Given the description of an element on the screen output the (x, y) to click on. 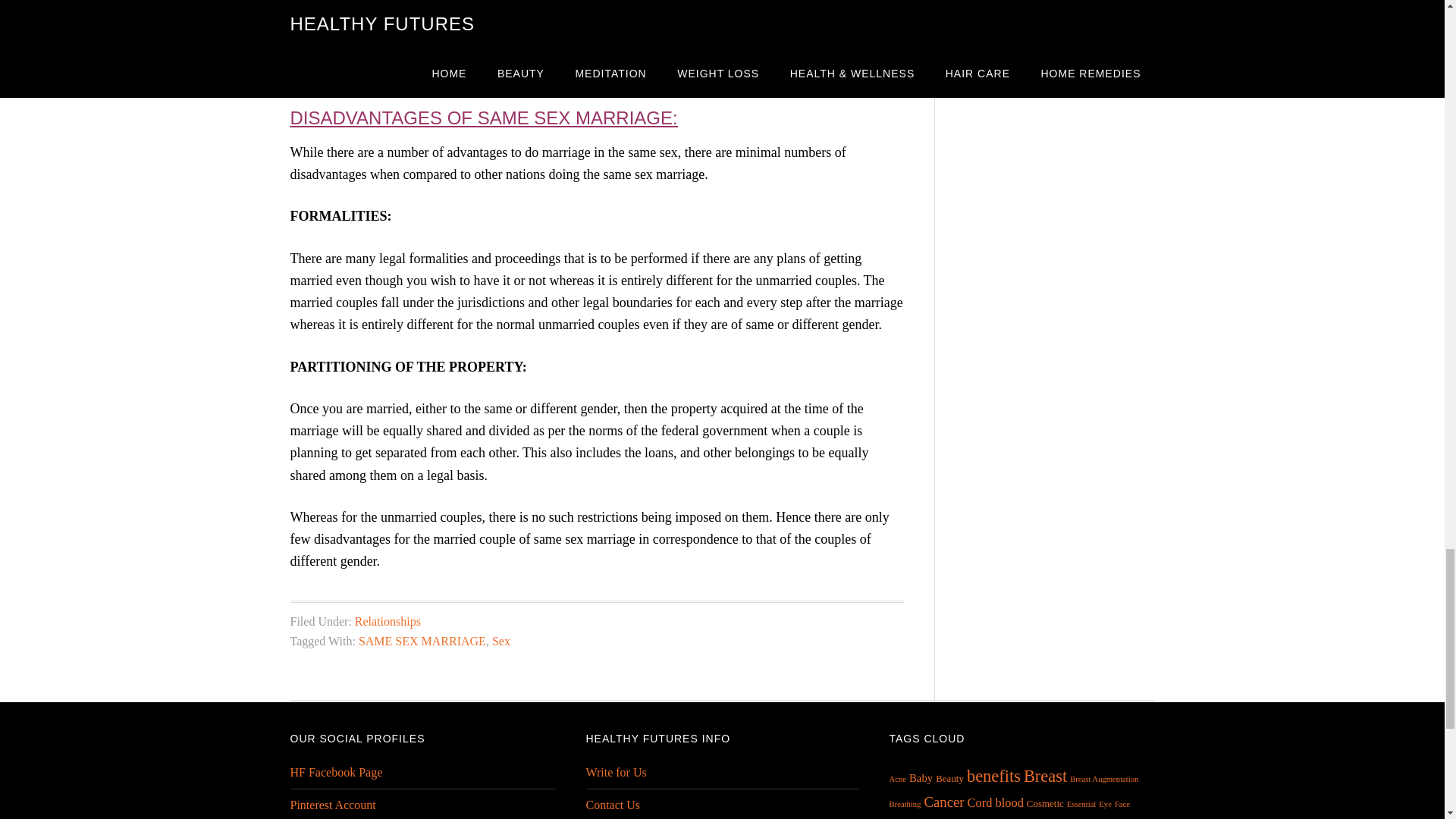
Guest post (615, 771)
Contact Healthy Futures (612, 804)
Pin boards (332, 804)
Sex before marriage pros cons (438, 76)
Sex (501, 640)
Relationships (387, 621)
FB page (335, 771)
SAME SEX MARRIAGE (422, 640)
